Given the description of an element on the screen output the (x, y) to click on. 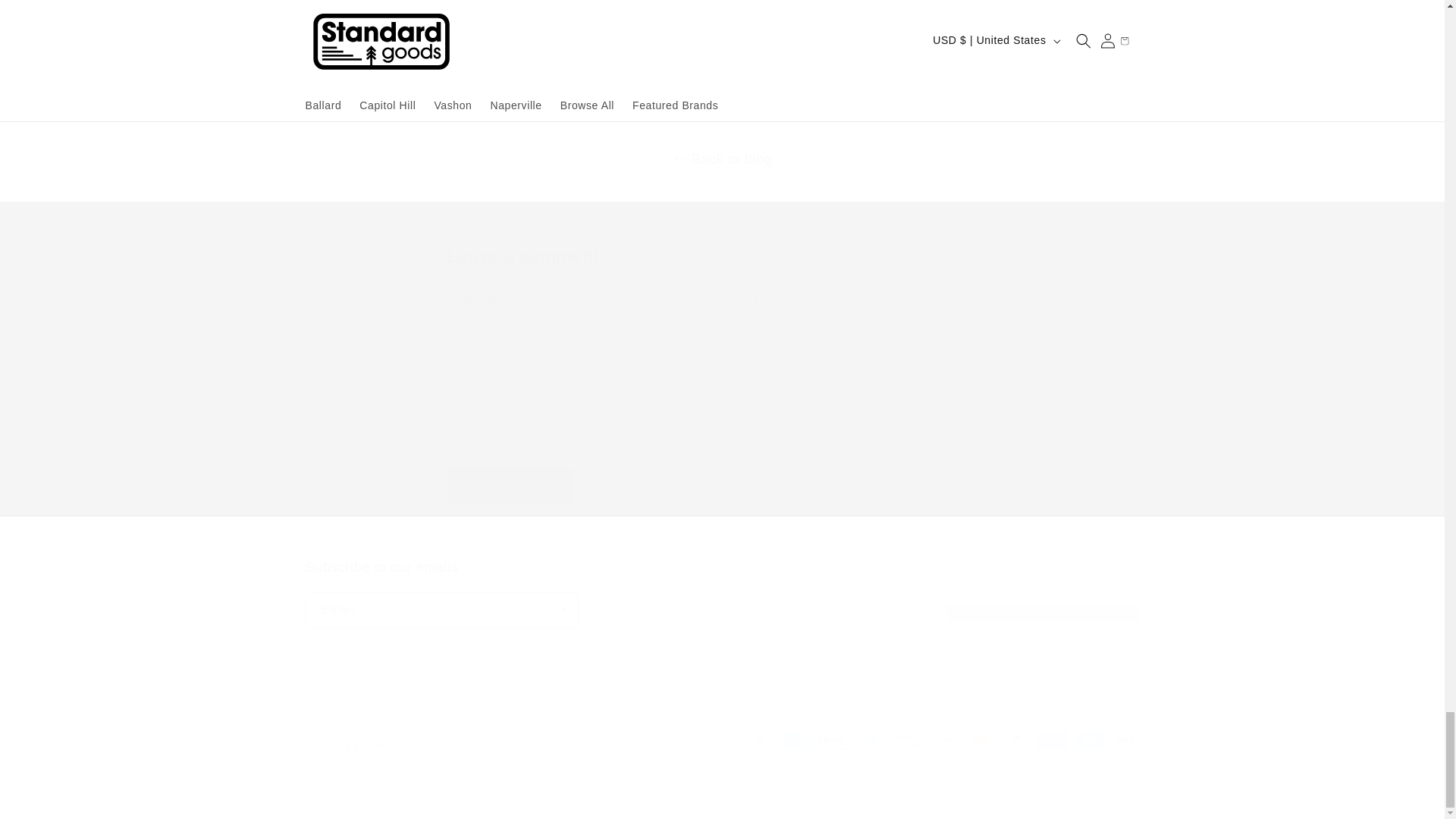
Website (721, 592)
Post comment (470, 62)
Powered by Shopify (510, 485)
Standard Goods (454, 798)
Post comment (374, 798)
Instagram  (510, 485)
